Given the description of an element on the screen output the (x, y) to click on. 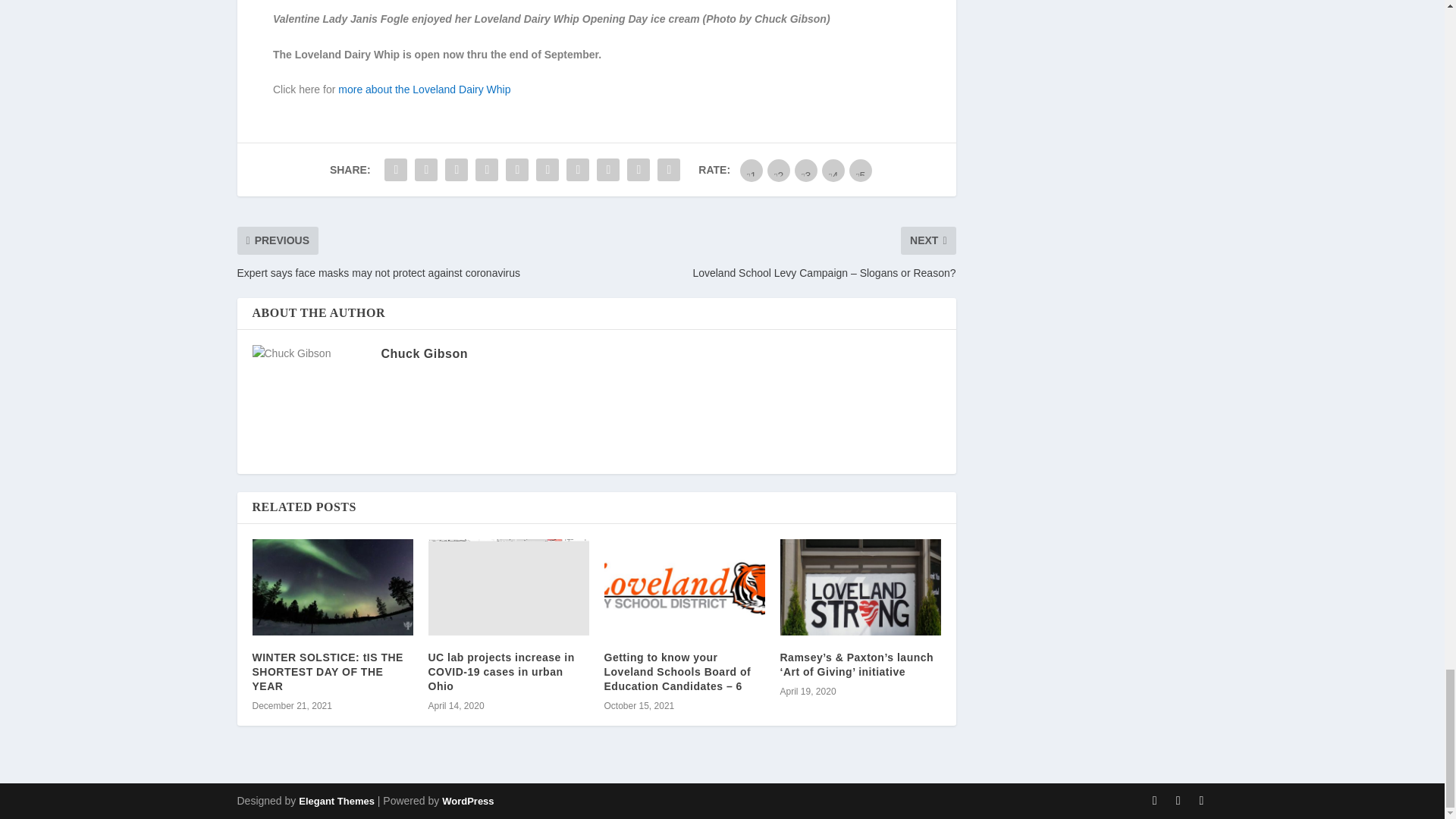
more about the Loveland Dairy Whip (424, 89)
Share "Opening Day at the Loveland Dairy Whip" via Twitter (425, 169)
Share "Opening Day at the Loveland Dairy Whip" via Pinterest (517, 169)
Share "Opening Day at the Loveland Dairy Whip" via Email (638, 169)
Share "Opening Day at the Loveland Dairy Whip" via LinkedIn (547, 169)
Share "Opening Day at the Loveland Dairy Whip" via Tumblr (486, 169)
Share "Opening Day at the Loveland Dairy Whip" via Facebook (395, 169)
Share "Opening Day at the Loveland Dairy Whip" via Buffer (577, 169)
